Given the description of an element on the screen output the (x, y) to click on. 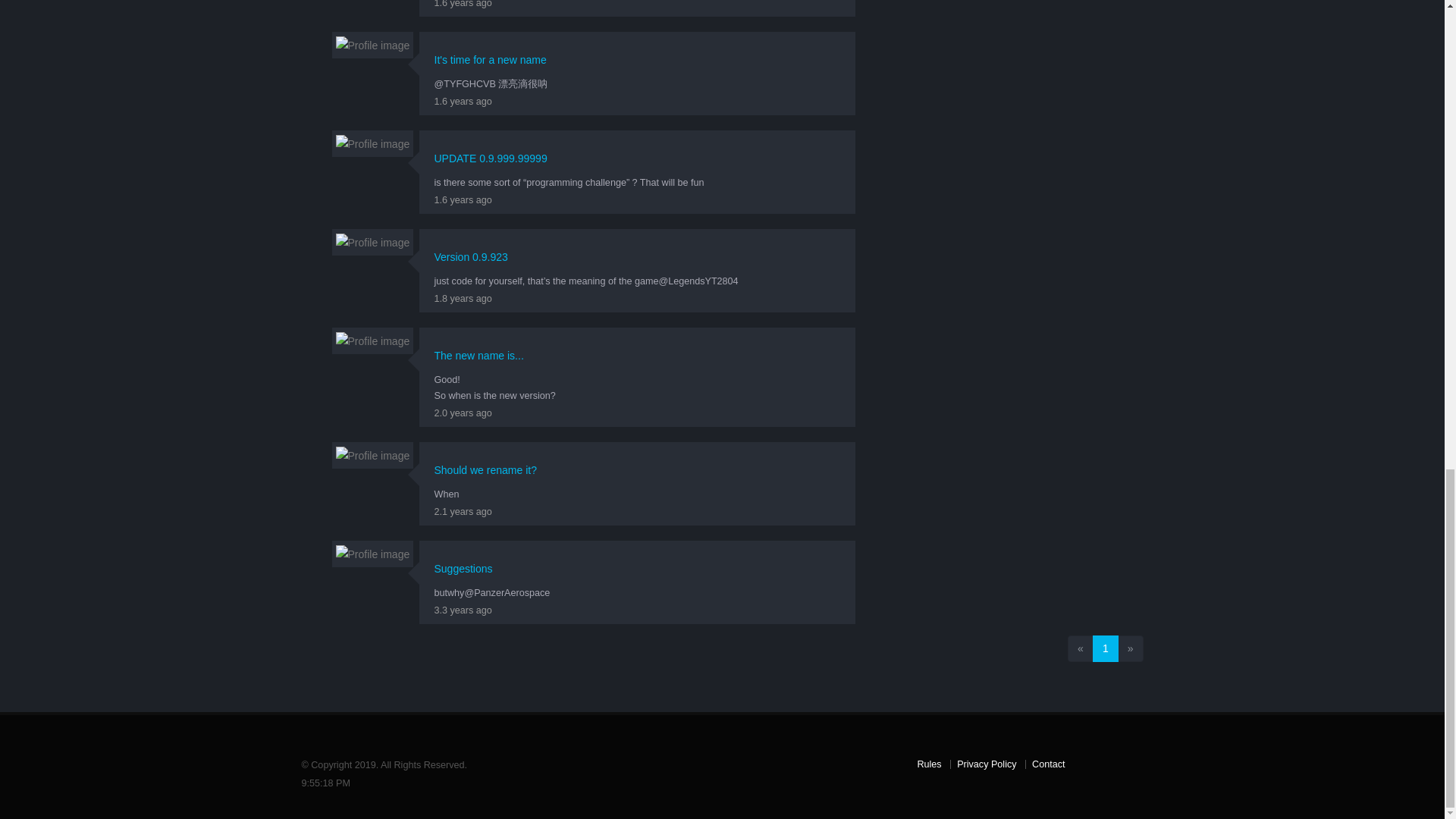
UPDATE 0.9.999.99999 (490, 158)
It's time for a new name (489, 60)
The new name is... (477, 355)
Version 0.9.923 (469, 256)
